Given the description of an element on the screen output the (x, y) to click on. 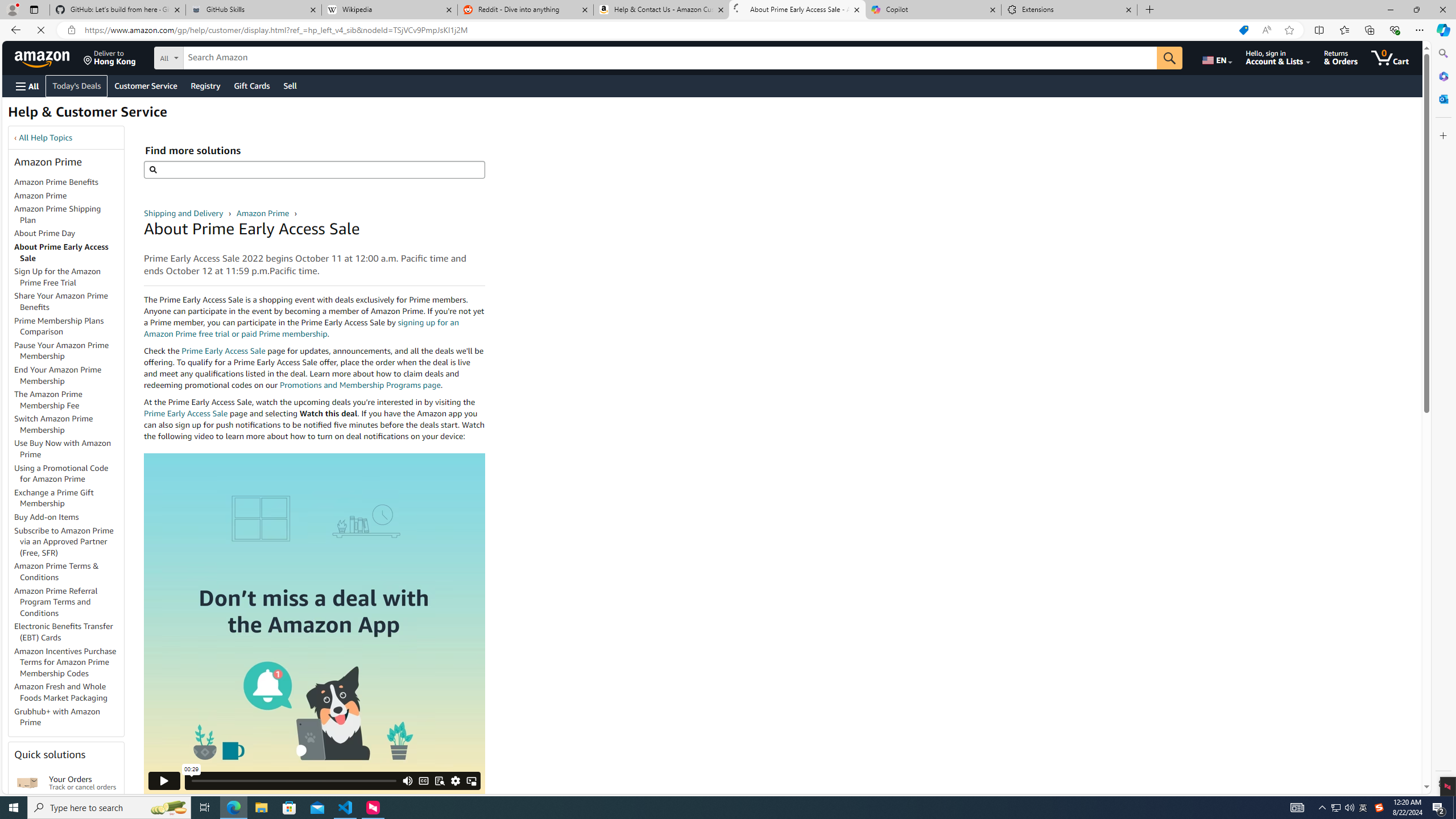
Customer Service (145, 85)
Search in (210, 56)
Choose a language for shopping. (1225, 57)
Copilot (933, 9)
Sell (290, 85)
Deliver to Hong Kong (109, 57)
Amazon | Deals (797, 9)
